Given the description of an element on the screen output the (x, y) to click on. 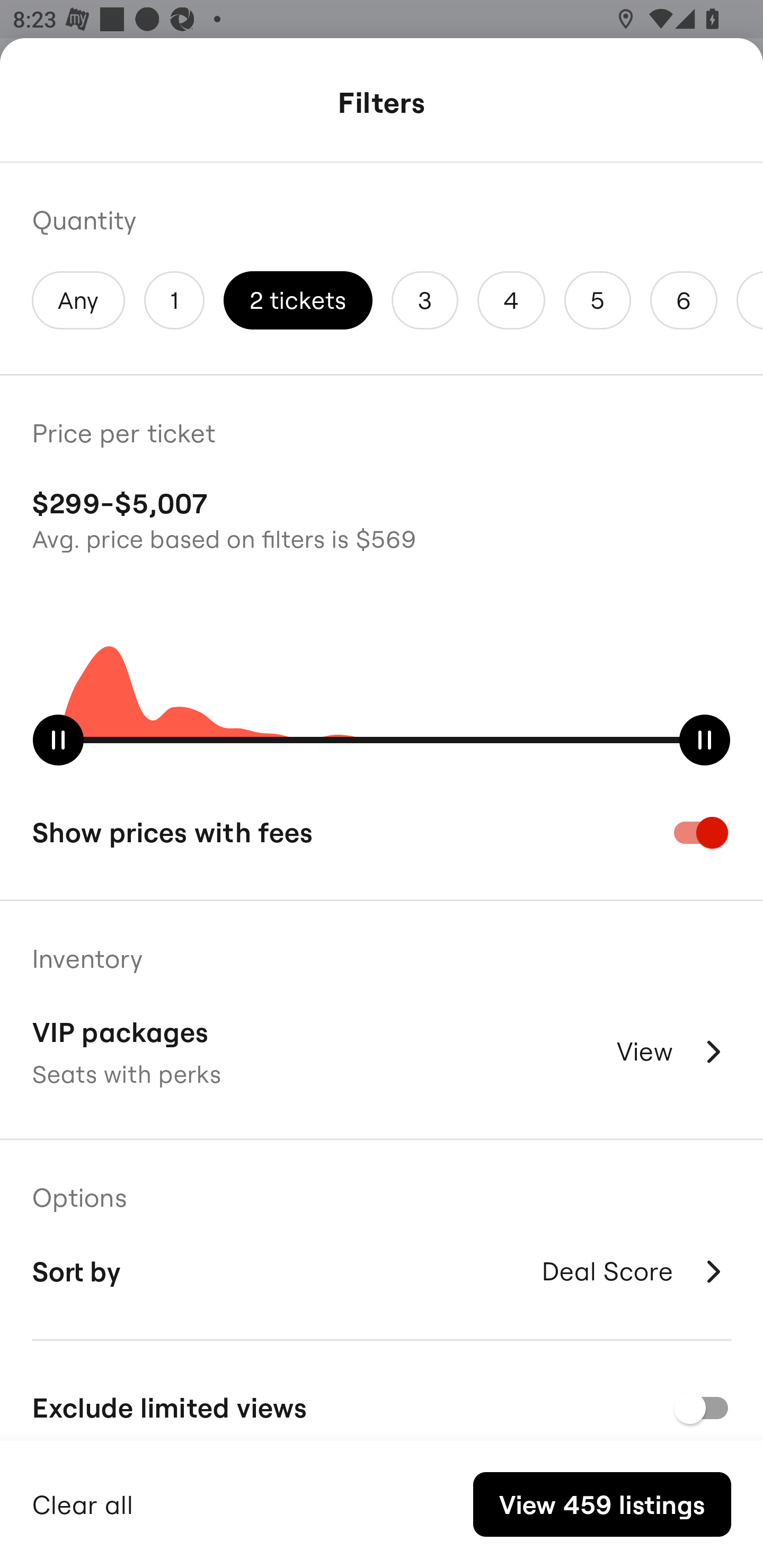
Any (78, 300)
1 (173, 300)
2 tickets (297, 300)
3 (424, 300)
4 (511, 300)
5 (597, 300)
6 (684, 300)
$299-$5,007 Avg. price based on filters is $569 (381, 518)
Show prices with fees (381, 832)
VIP packages Seats with perks View (381, 1052)
Sort by Deal Score (381, 1271)
Exclude limited views (381, 1405)
Clear all (83, 1502)
View 459 listings (601, 1504)
